Given the description of an element on the screen output the (x, y) to click on. 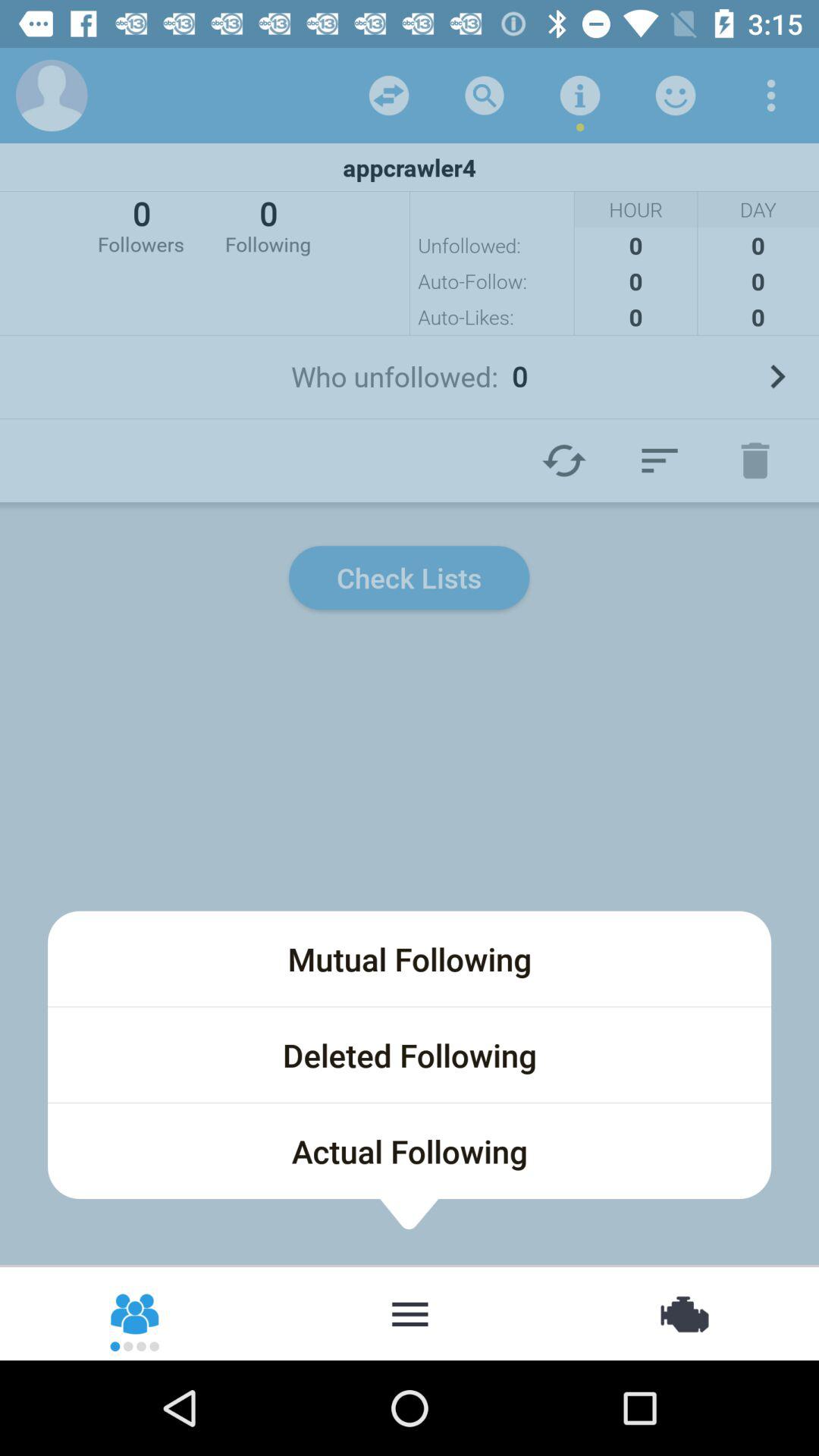
go forward (777, 376)
